Given the description of an element on the screen output the (x, y) to click on. 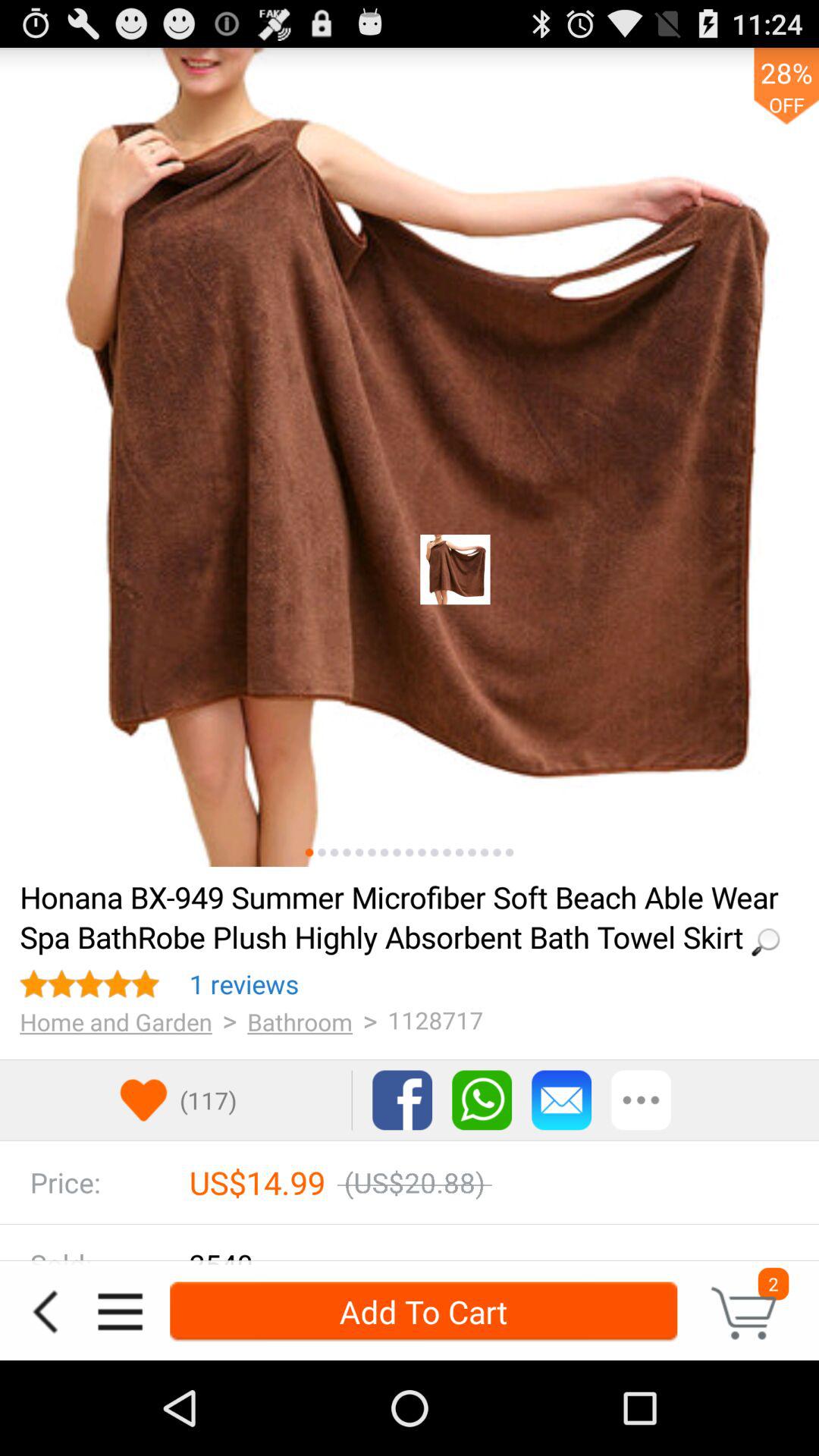
email current link (561, 1100)
